Given the description of an element on the screen output the (x, y) to click on. 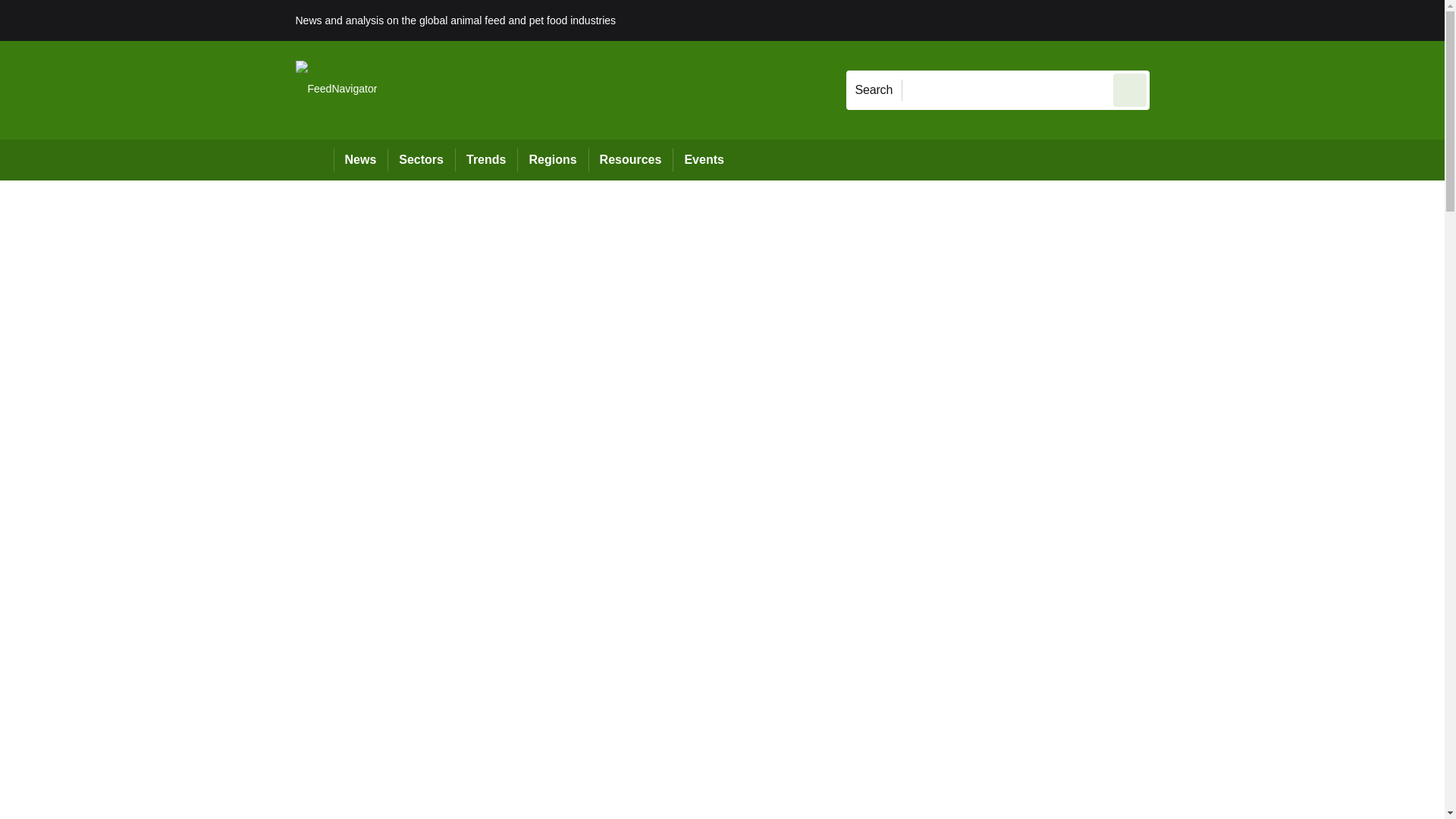
Send (1129, 90)
FeedNavigator (336, 89)
News (360, 159)
Trends (485, 159)
Sign out (1174, 20)
Home (313, 159)
Send (1129, 89)
Sectors (420, 159)
Home (314, 159)
REGISTER (1250, 20)
